Given the description of an element on the screen output the (x, y) to click on. 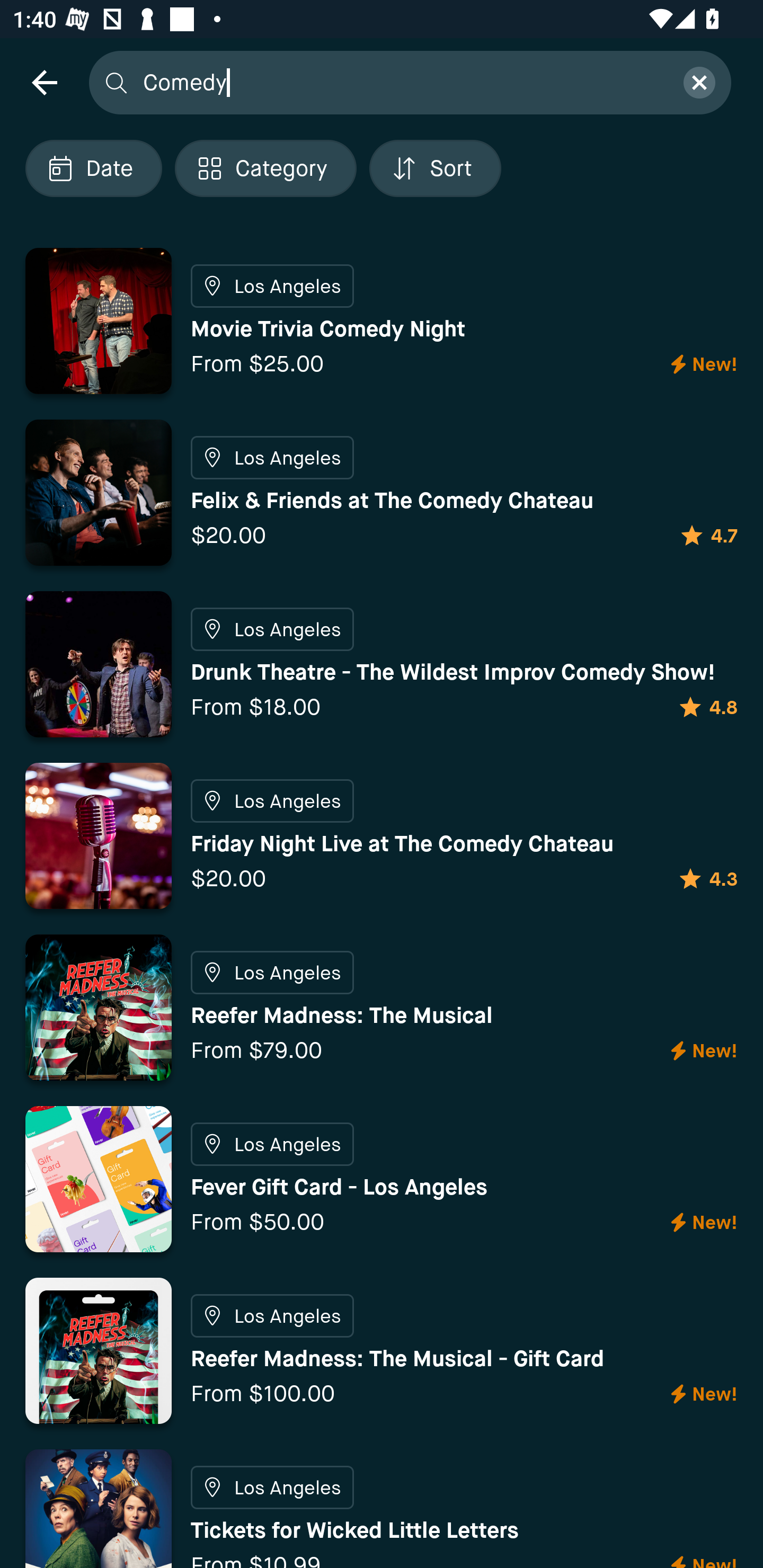
navigation icon (44, 81)
Comedy (402, 81)
Localized description Date (93, 168)
Localized description Category (265, 168)
Localized description Sort (435, 168)
